Given the description of an element on the screen output the (x, y) to click on. 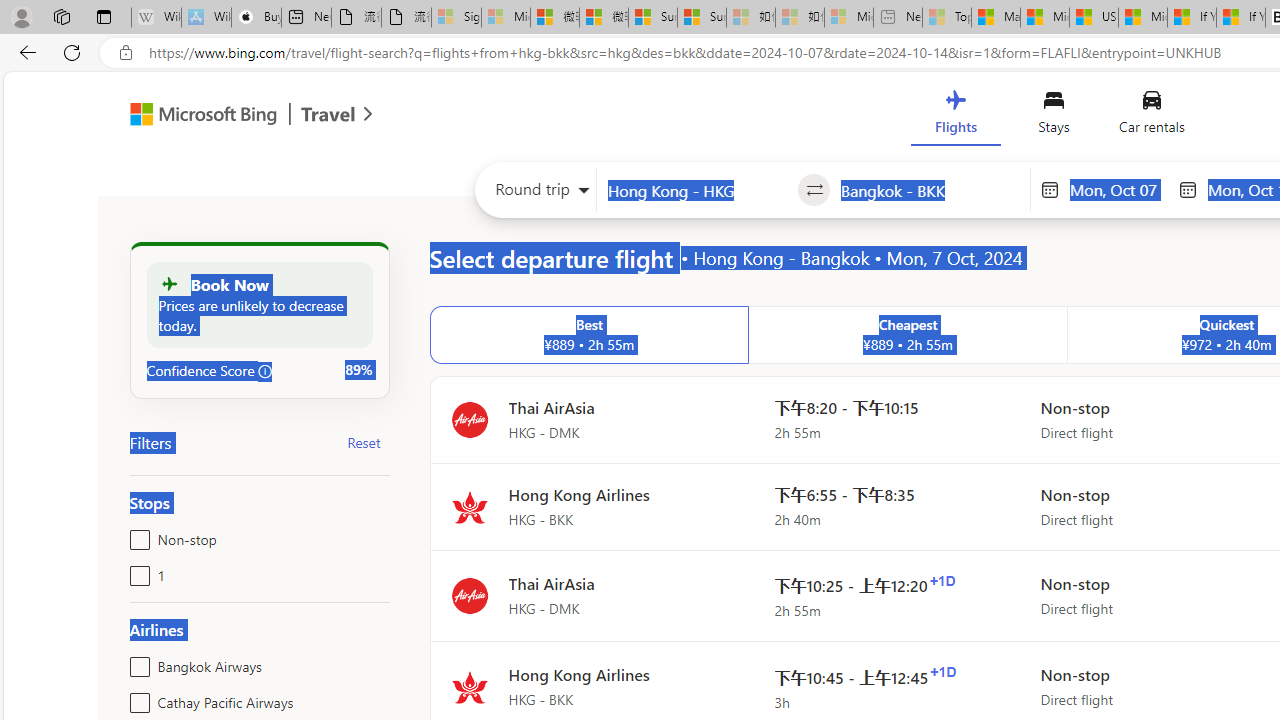
Wikipedia - Sleeping (155, 17)
Microsoft Services Agreement - Sleeping (505, 17)
